Given the description of an element on the screen output the (x, y) to click on. 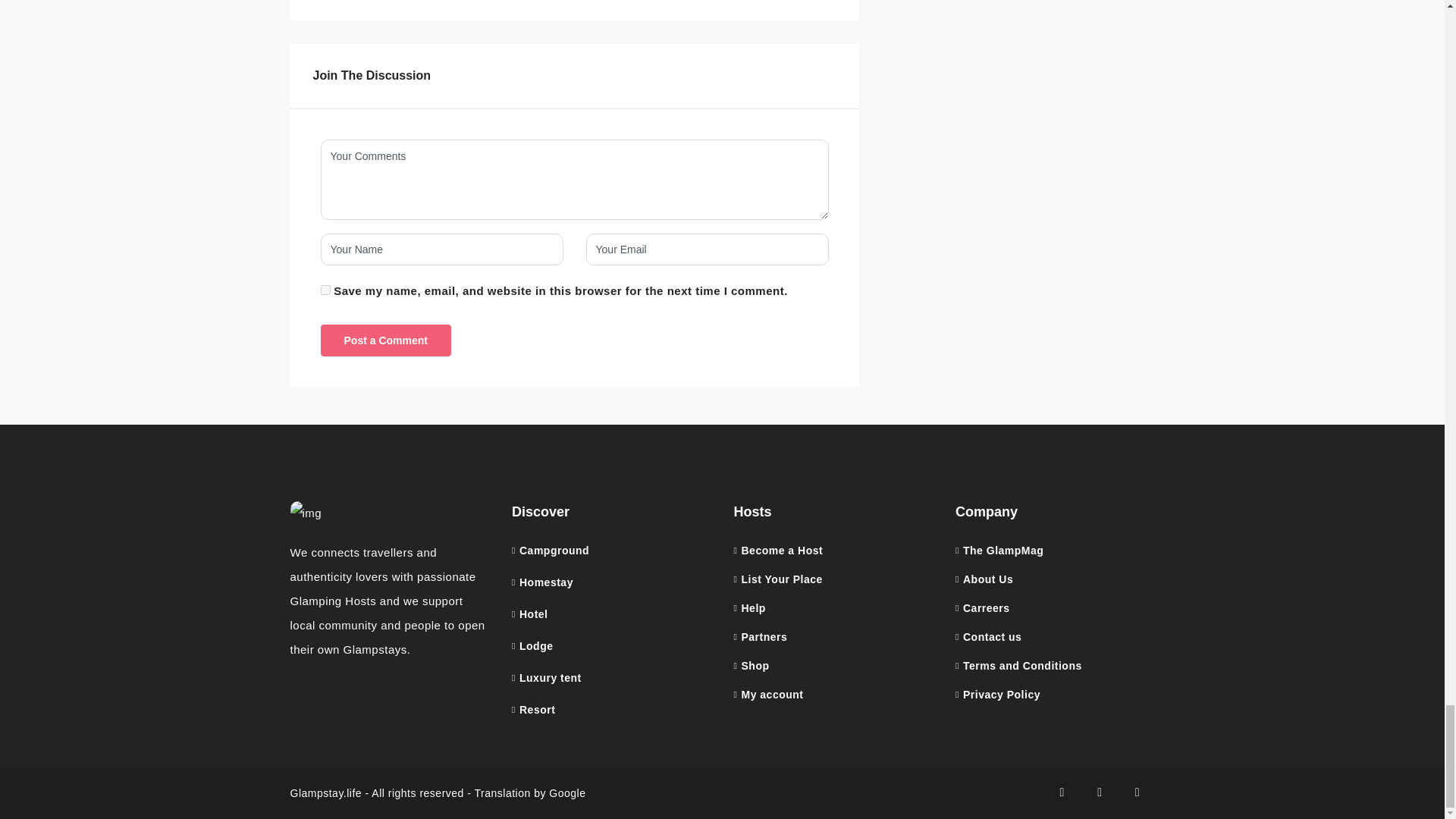
Post a Comment (384, 339)
yes (325, 289)
Post a Comment (384, 339)
